Given the description of an element on the screen output the (x, y) to click on. 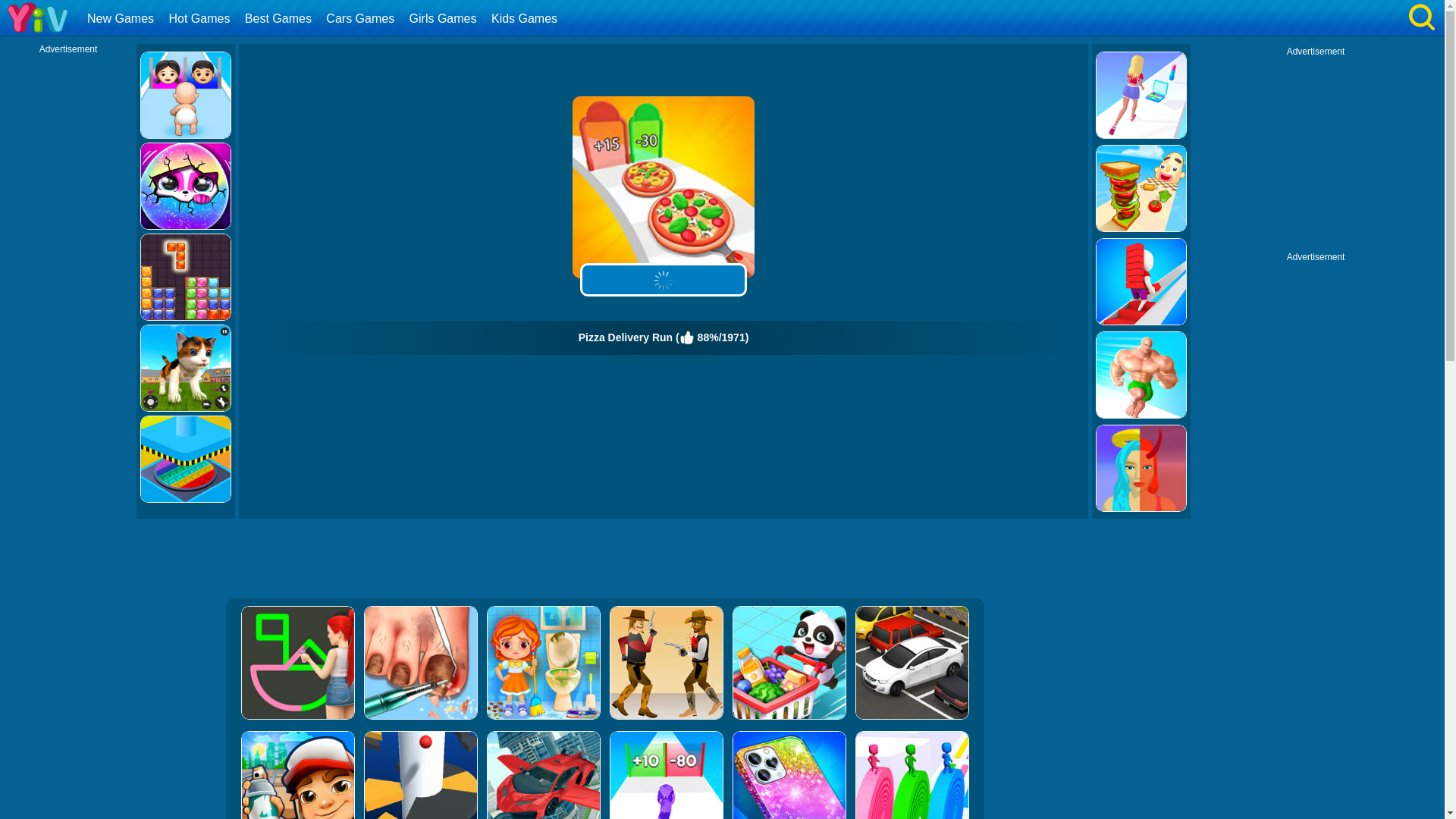
Hot Games (200, 18)
Best Games (279, 18)
Girls Games (445, 18)
Advertisement (1315, 152)
Advertisement (603, 560)
Cars Games (361, 18)
Kids Games (525, 18)
New Games (121, 18)
